Given the description of an element on the screen output the (x, y) to click on. 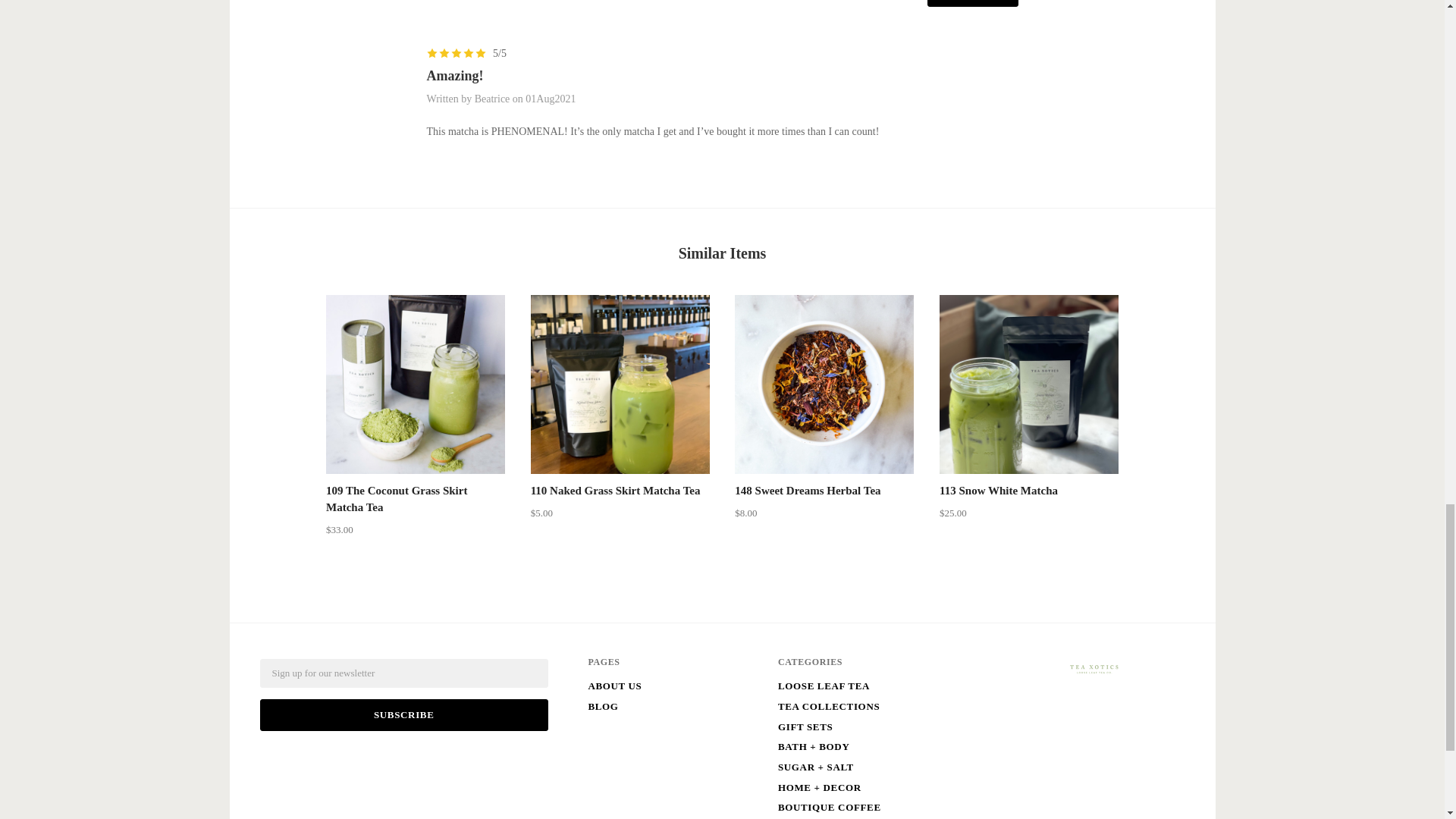
109 The Coconut Grass Skirt Matcha Tea (415, 384)
113 Snow White Matcha (998, 490)
148 Sweet Dreams Herbal Tea (824, 384)
110 Naked Grass Skirt Matcha Tea (615, 490)
109 The Coconut Grass Skirt Matcha Tea (396, 498)
148 Sweet Dreams Herbal Tea (807, 490)
Subscribe (403, 715)
113 Snow White Matcha (1028, 384)
110 Naked Grass Skirt Matcha Tea (620, 384)
